Given the description of an element on the screen output the (x, y) to click on. 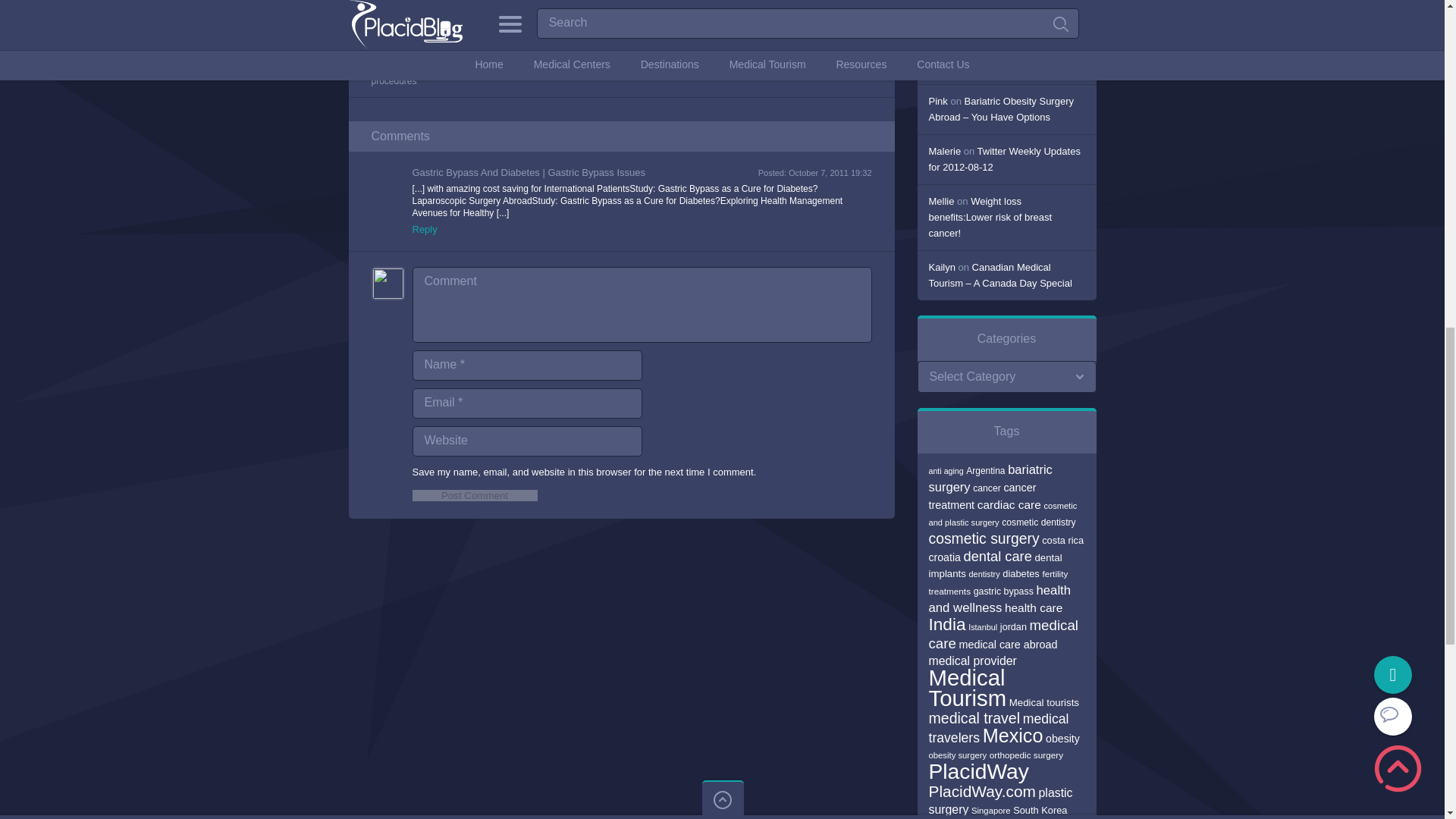
Post Comment (474, 495)
